Given the description of an element on the screen output the (x, y) to click on. 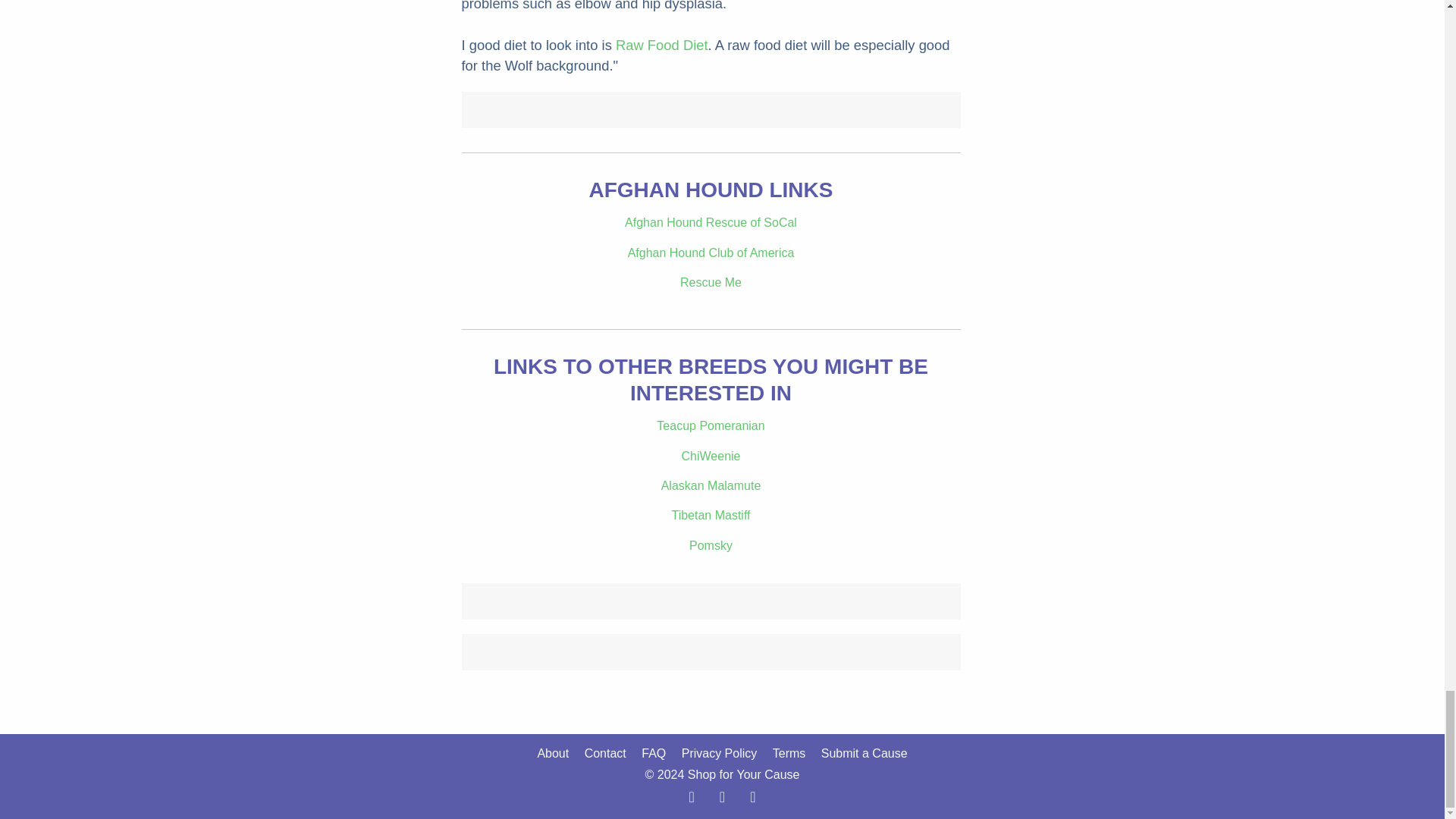
ChiWeenie (711, 455)
Raw Food Diet (661, 44)
Rescue Me (710, 282)
Afghan Hound Club of America (710, 251)
Afghan Hound Rescue of SoCal (710, 222)
Teacup Pomeranian (710, 425)
